Given the description of an element on the screen output the (x, y) to click on. 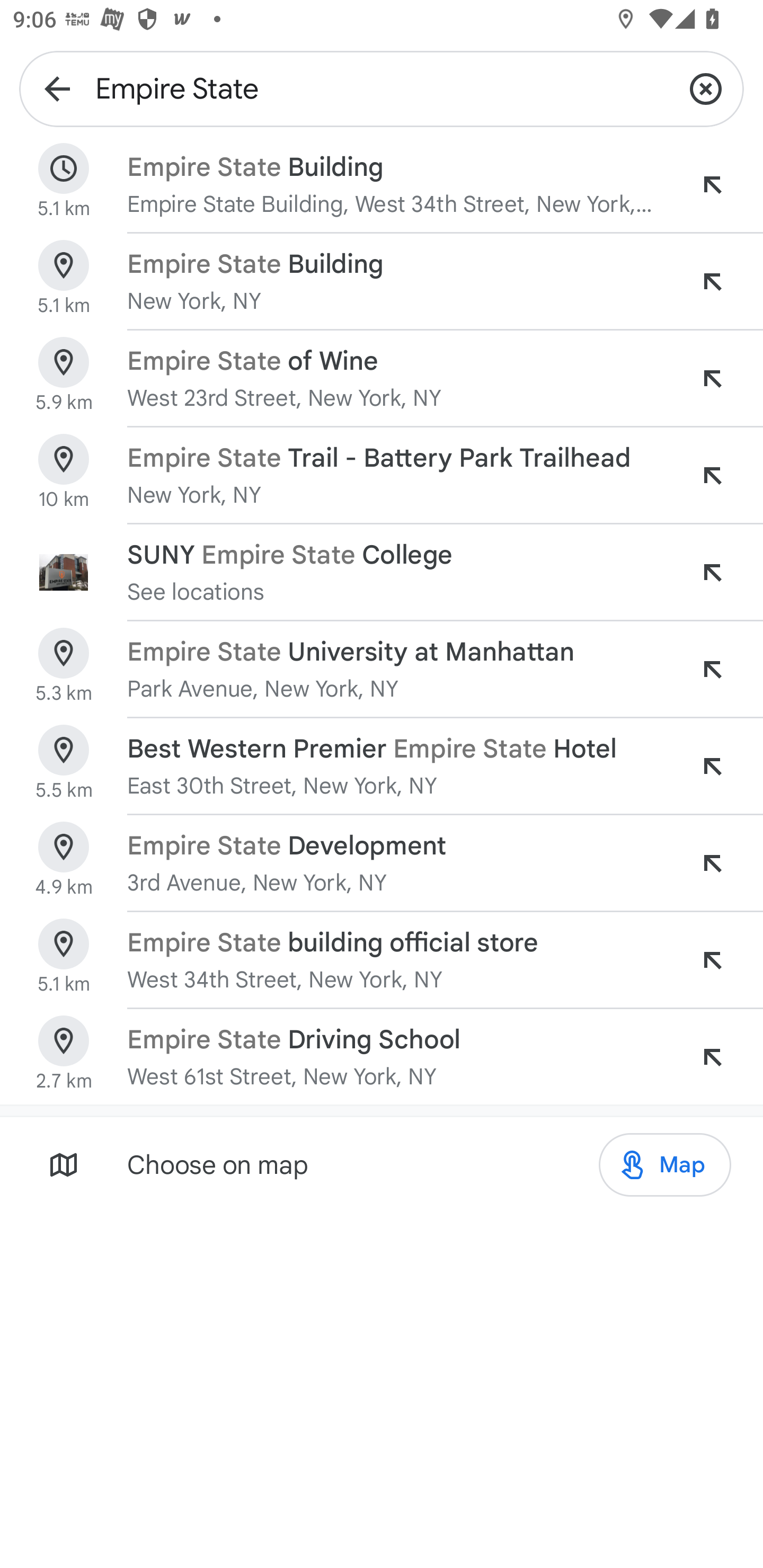
Navigate up (57, 88)
Empire State (381, 88)
Clear (705, 88)
Choose on map Map Map Map (381, 1164)
Map Map Map (664, 1164)
